Given the description of an element on the screen output the (x, y) to click on. 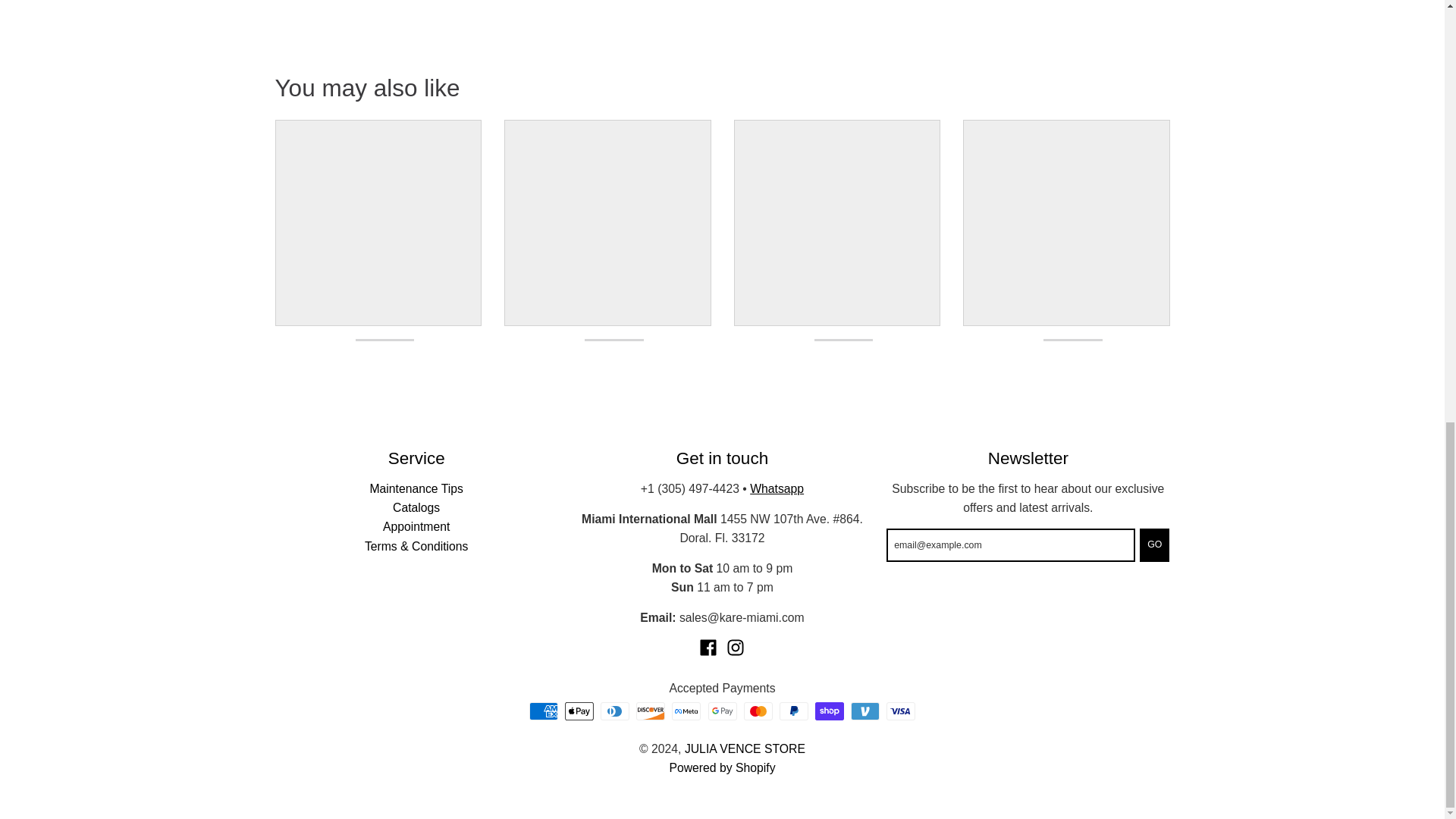
Facebook - JULIA VENCE STORE (707, 647)
Instagram - JULIA VENCE STORE (735, 647)
